Given the description of an element on the screen output the (x, y) to click on. 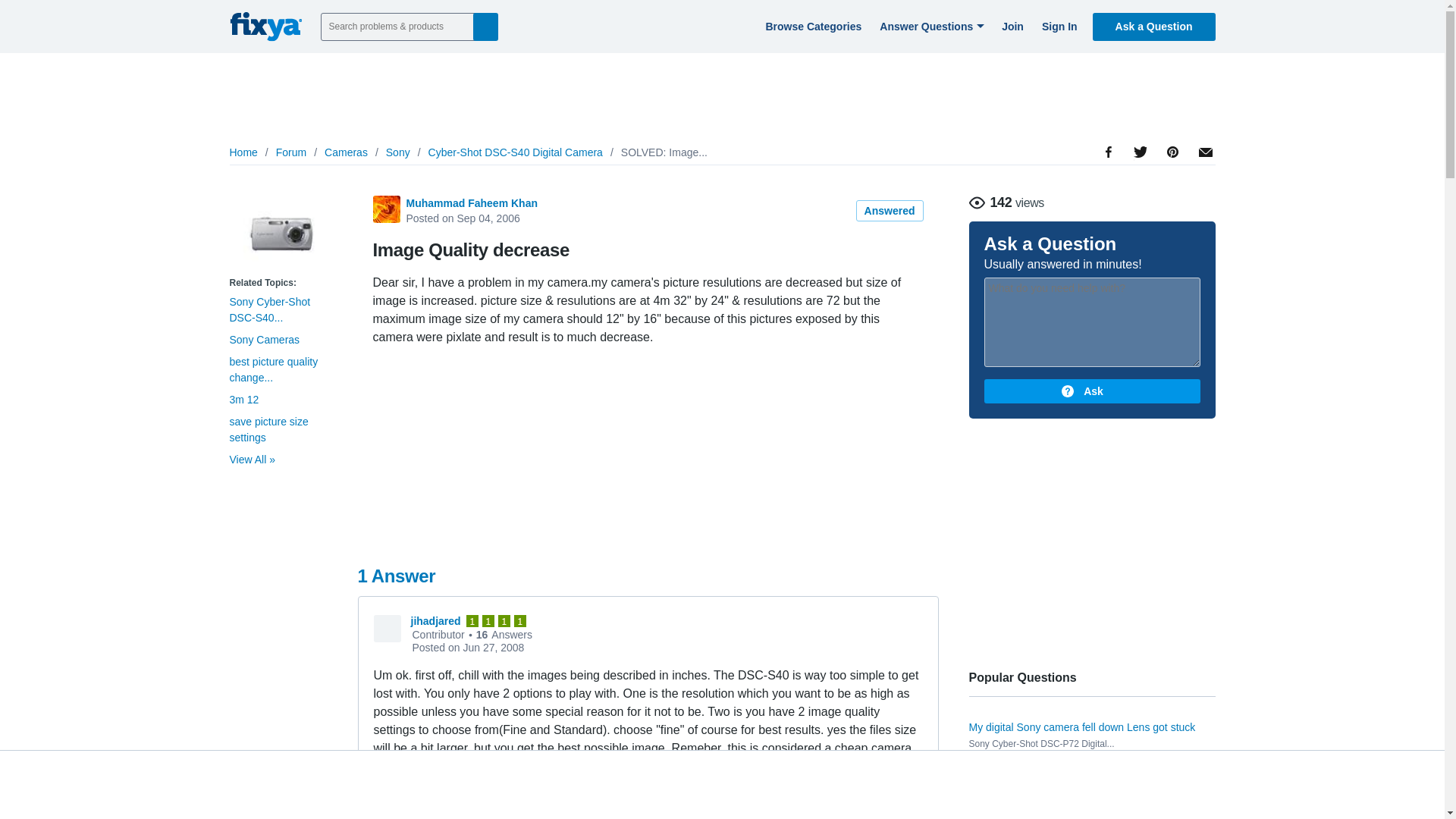
Forum (290, 152)
Ask a Question (1154, 26)
Sony Cyber-Shot DSC-S40... (269, 309)
Sony Cameras (263, 339)
save picture size settings (267, 429)
Cyber-Shot DSC-S40 Digital Camera (515, 152)
Browse Categories (810, 26)
best picture quality change... (272, 369)
Ask (1091, 391)
Sony (397, 152)
Search Fixya (485, 26)
Search Fixya (485, 26)
Search Fixya (485, 26)
Cameras (346, 152)
Sony Cyber-Shot DSC-S40 Digital Camera (280, 233)
